Given the description of an element on the screen output the (x, y) to click on. 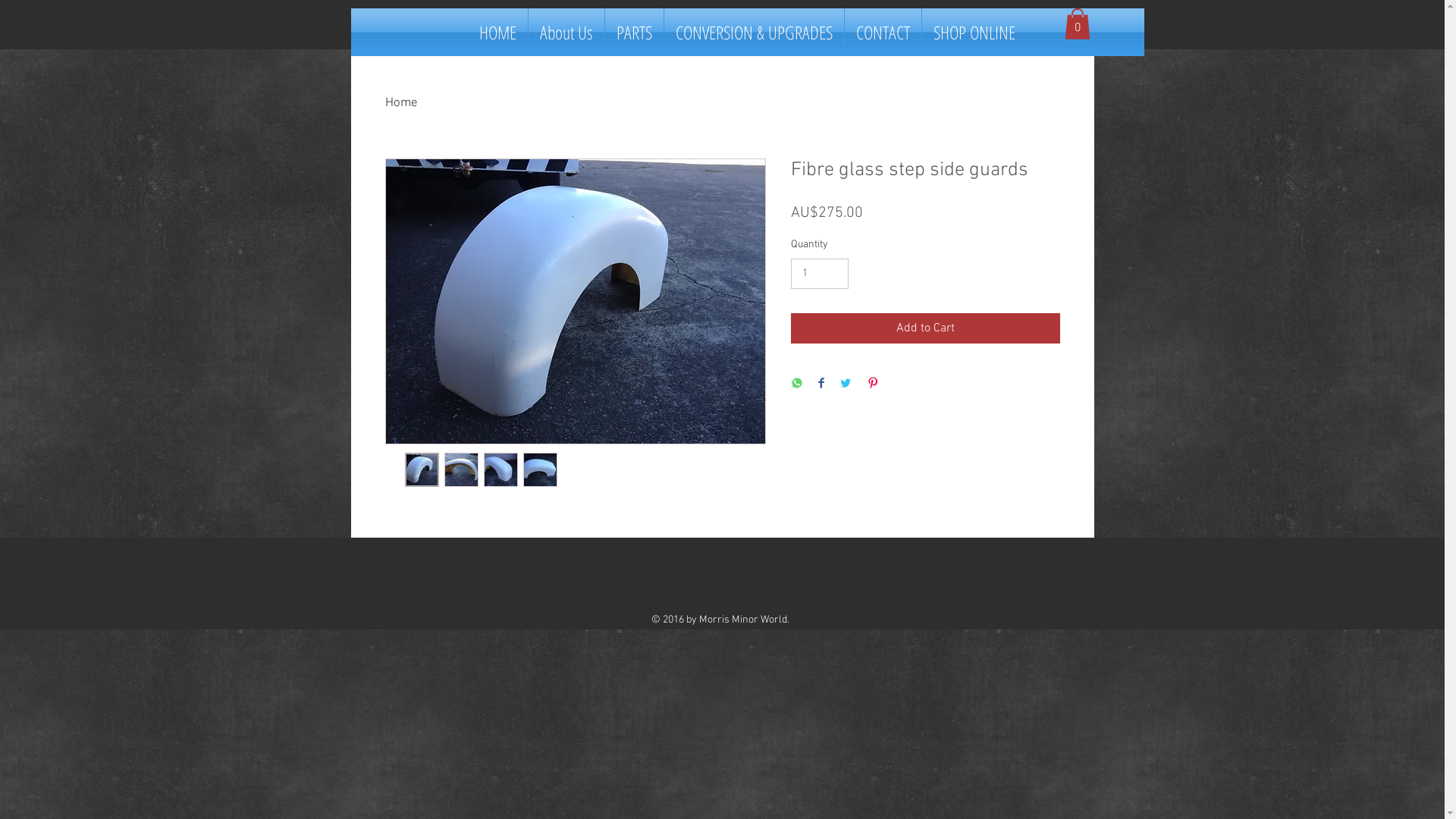
Home Element type: text (401, 102)
About Us Element type: text (566, 32)
PARTS Element type: text (634, 32)
CONTACT Element type: text (882, 32)
HOME Element type: text (497, 32)
0 Element type: text (1077, 23)
Add to Cart Element type: text (924, 328)
SHOP ONLINE Element type: text (974, 32)
CONVERSION & UPGRADES Element type: text (754, 32)
